Given the description of an element on the screen output the (x, y) to click on. 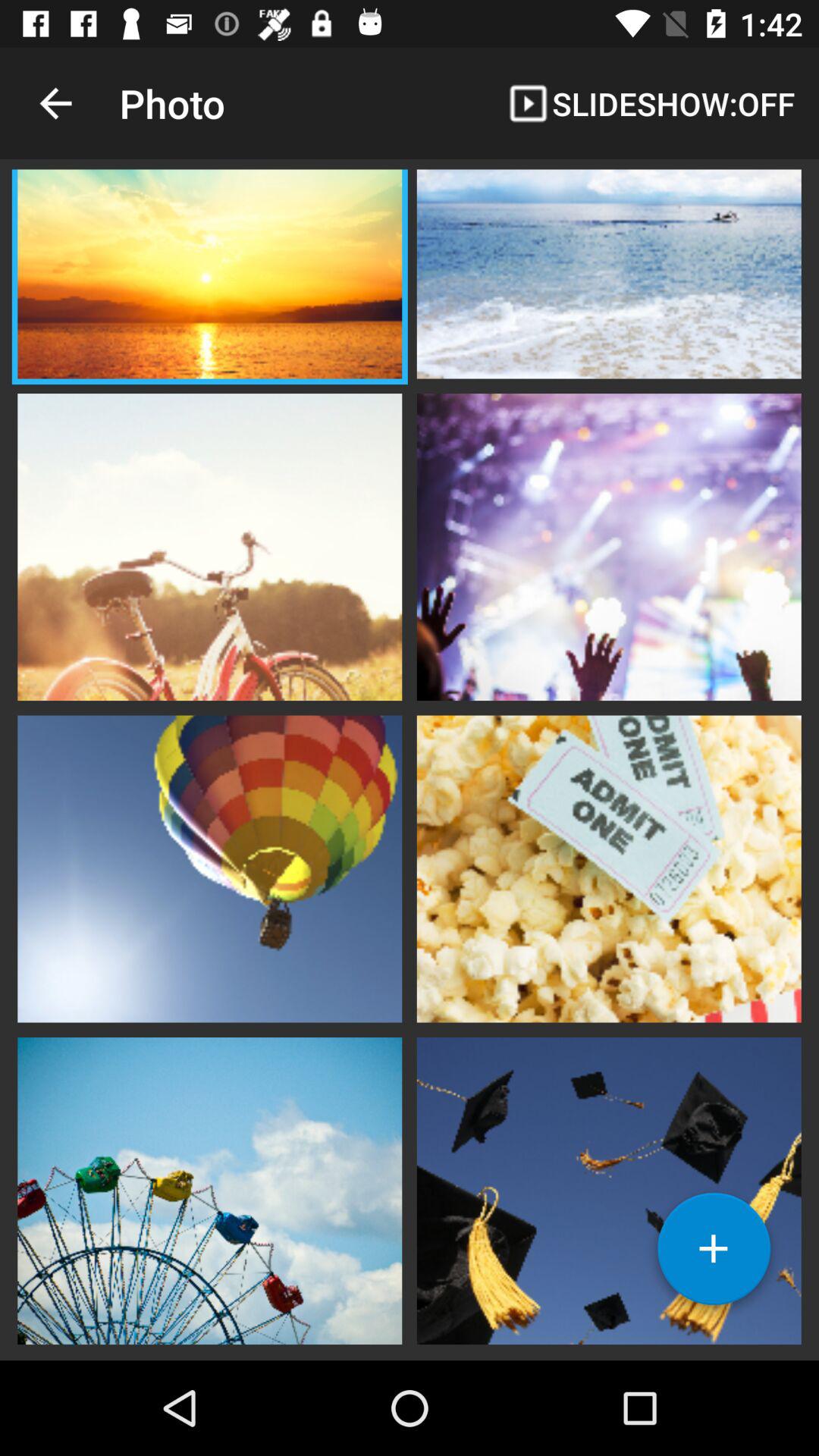
photo option (209, 275)
